Given the description of an element on the screen output the (x, y) to click on. 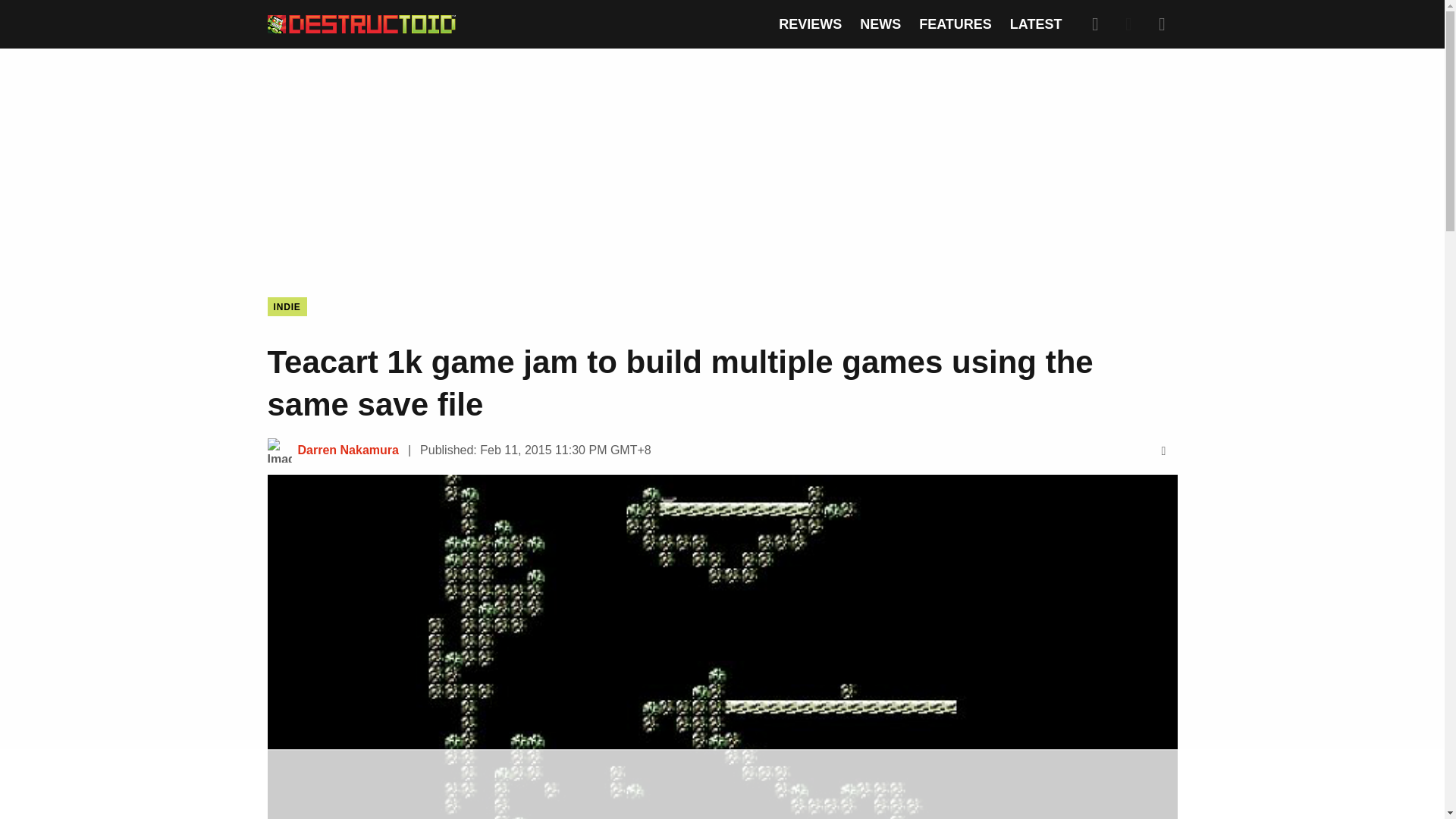
3rd party ad content (721, 160)
LATEST (1036, 23)
FEATURES (954, 23)
3rd party ad content (721, 785)
Dark Mode (1127, 24)
Search (1094, 24)
Expand Menu (1161, 24)
INDIE (285, 306)
REVIEWS (809, 23)
NEWS (880, 23)
